Given the description of an element on the screen output the (x, y) to click on. 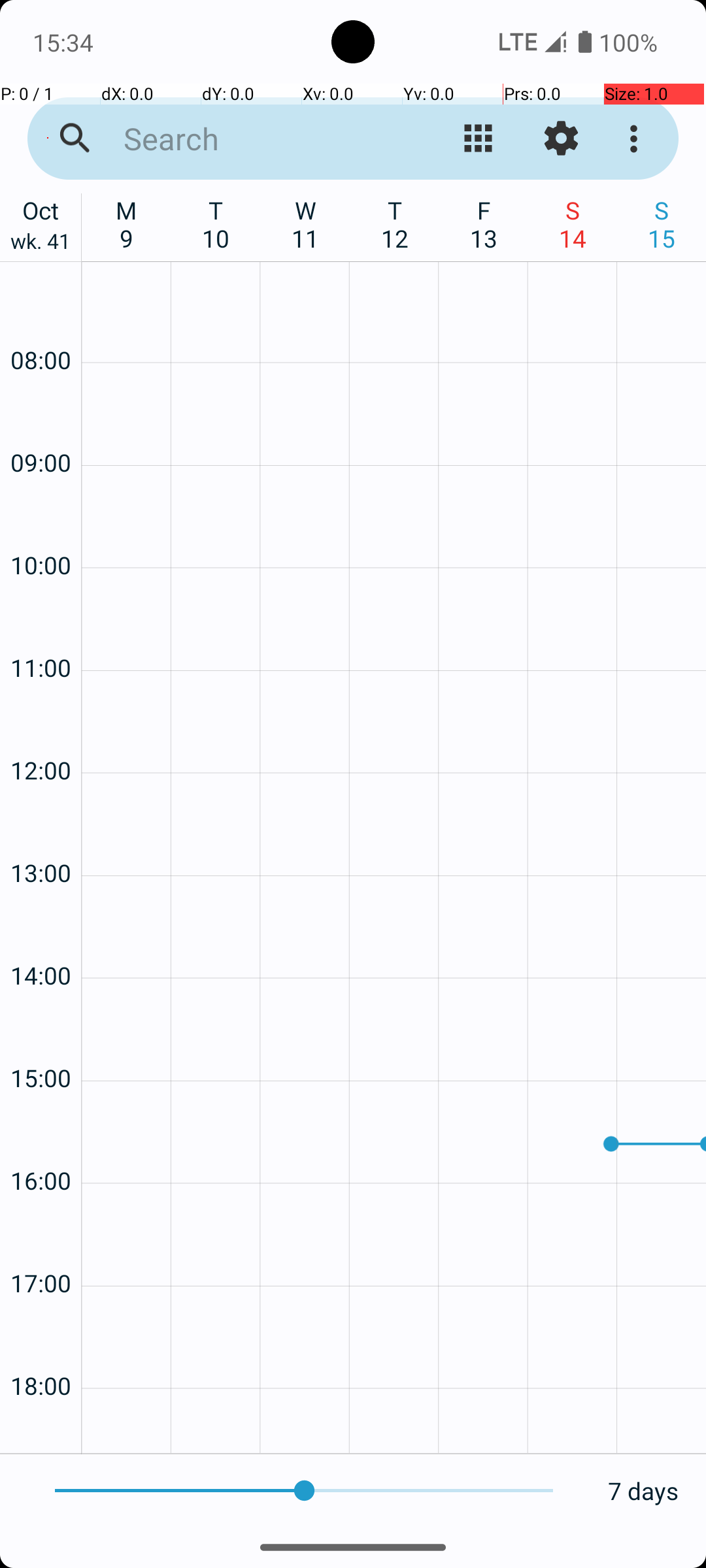
wk. 41 Element type: android.widget.TextView (40, 243)
M
9 Element type: android.widget.TextView (126, 223)
T
10 Element type: android.widget.TextView (215, 223)
W
11 Element type: android.widget.TextView (305, 223)
T
12 Element type: android.widget.TextView (394, 223)
F
13 Element type: android.widget.TextView (483, 223)
S
14 Element type: android.widget.TextView (572, 223)
